Given the description of an element on the screen output the (x, y) to click on. 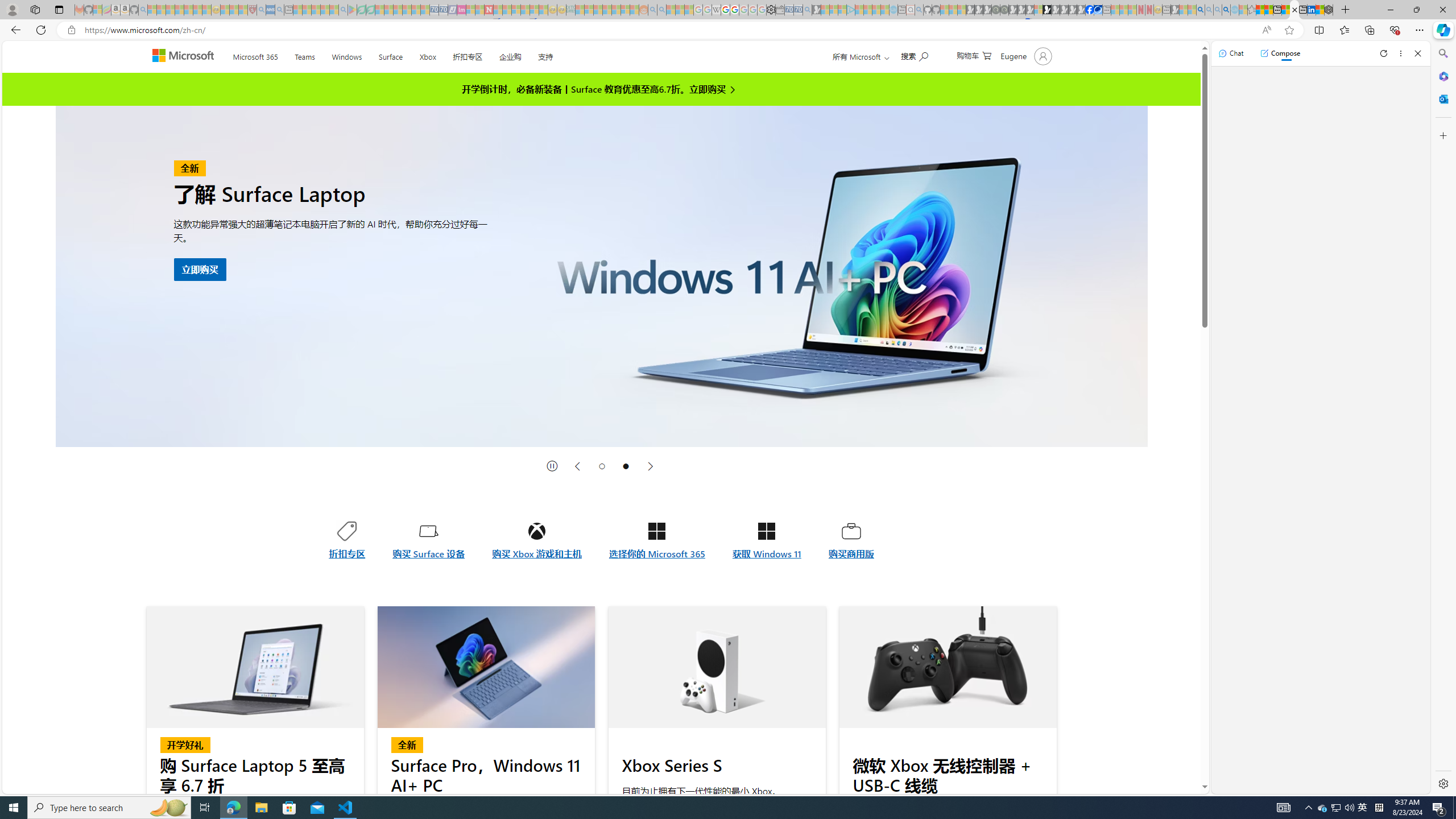
Nordace - Summer Adventures 2024 (1328, 9)
google - Search - Sleeping (342, 9)
Compose (1279, 52)
Cheap Car Rentals - Save70.com - Sleeping (798, 9)
Kinda Frugal - MSN - Sleeping (616, 9)
utah sues federal government - Search - Sleeping (279, 9)
